Given the description of an element on the screen output the (x, y) to click on. 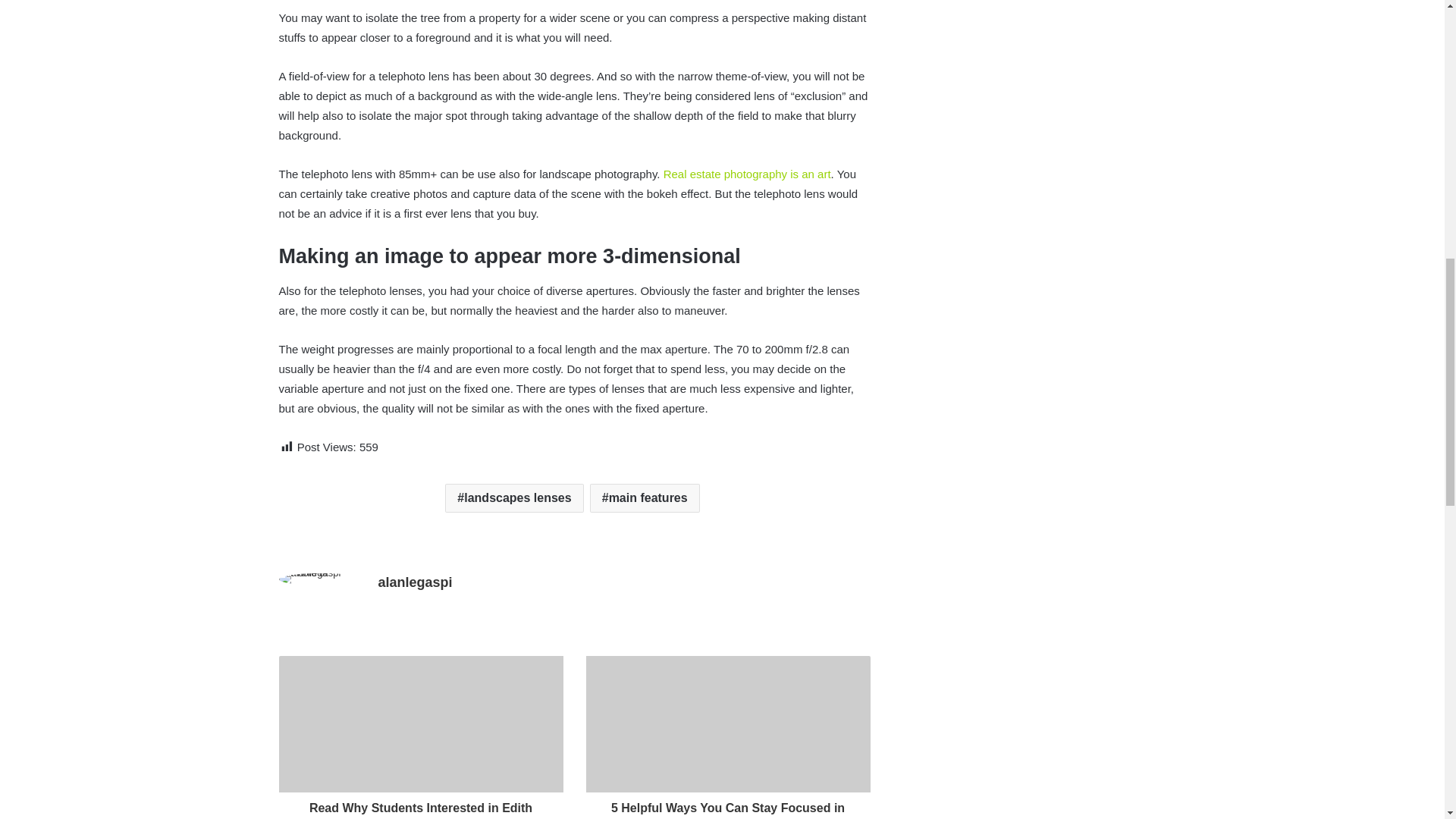
Real estate photography is an art (747, 173)
main features (644, 498)
Website (386, 608)
alanlegaspi (414, 581)
landscapes lenses (514, 498)
